Given the description of an element on the screen output the (x, y) to click on. 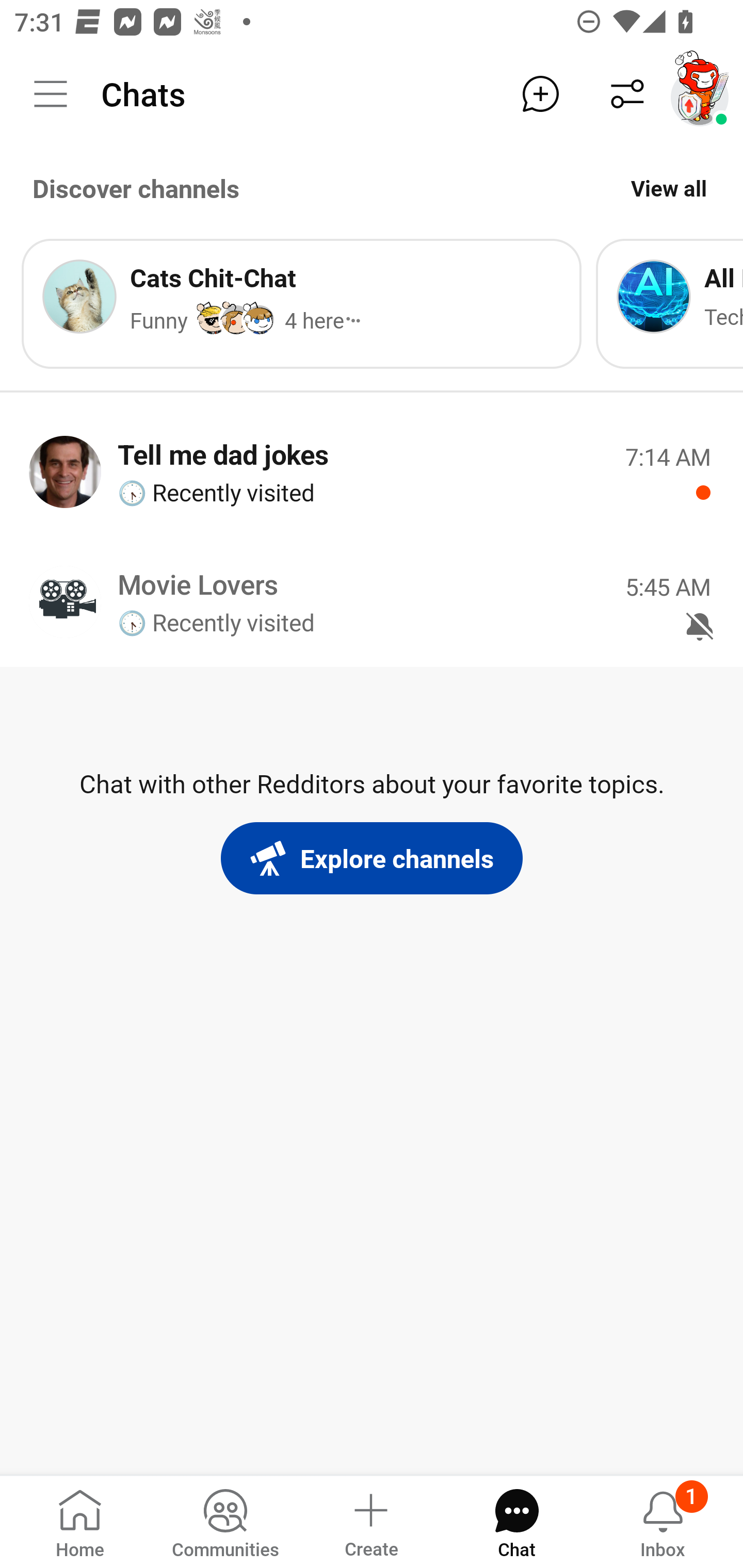
Community menu (50, 93)
New chat (540, 93)
Filter chats (626, 93)
TestAppium002 account (699, 93)
View all (668, 188)
Chat icon Cats Chit-Chat Funny 4 here (301, 303)
Tell me dad jokes 7:14 AM 🕟 Recently visited (371, 471)
Movie Lovers 5:45 AM 🕟 Recently visited Muted (371, 601)
Explore channels (371, 858)
Home (80, 1520)
Communities (225, 1520)
Create a post Create (370, 1520)
Chat (516, 1520)
Inbox, has 1 notification 1 Inbox (662, 1520)
